Given the description of an element on the screen output the (x, y) to click on. 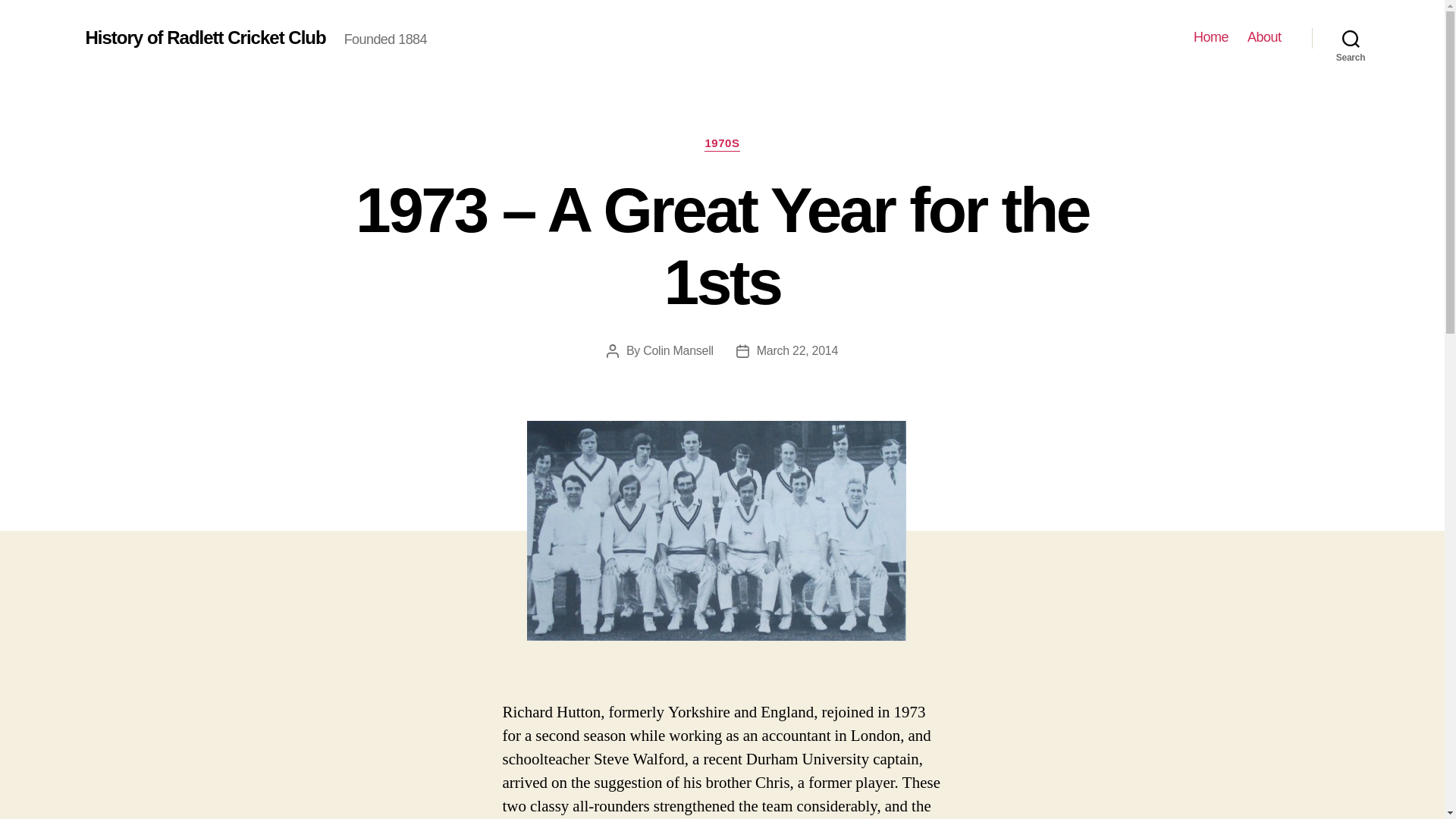
History of Radlett Cricket Club (204, 37)
March 22, 2014 (797, 350)
Colin Mansell (678, 350)
About (1264, 37)
1970S (721, 143)
Home (1210, 37)
Search (1350, 37)
